Given the description of an element on the screen output the (x, y) to click on. 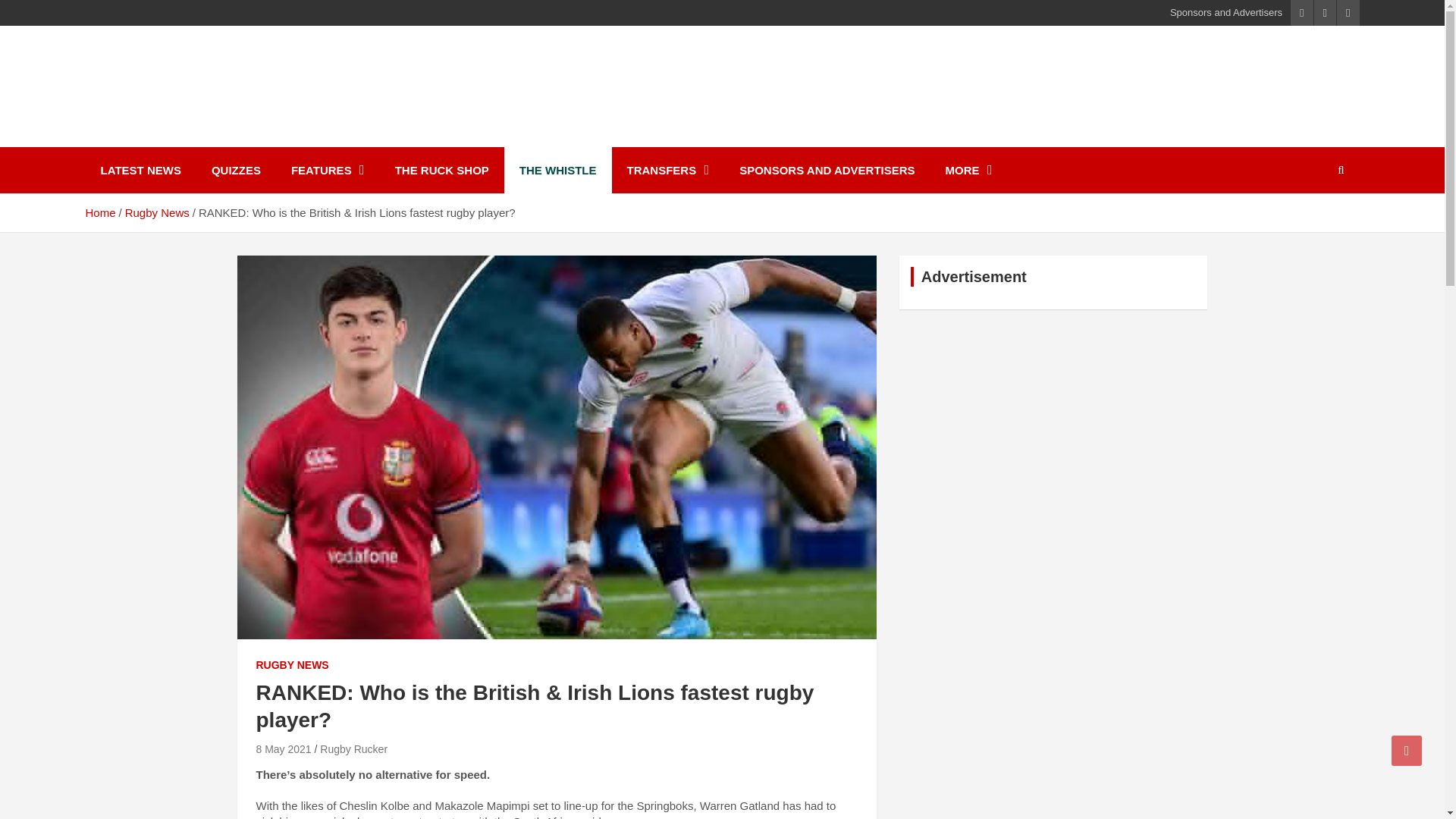
Ruck (121, 136)
FEATURES (328, 170)
THE RUCK SHOP (441, 170)
SPONSORS AND ADVERTISERS (826, 170)
TRANSFERS (667, 170)
MORE (968, 170)
Rugby Rucker (353, 748)
Rugby News (157, 212)
LATEST NEWS (139, 170)
RUGBY NEWS (292, 665)
